Given the description of an element on the screen output the (x, y) to click on. 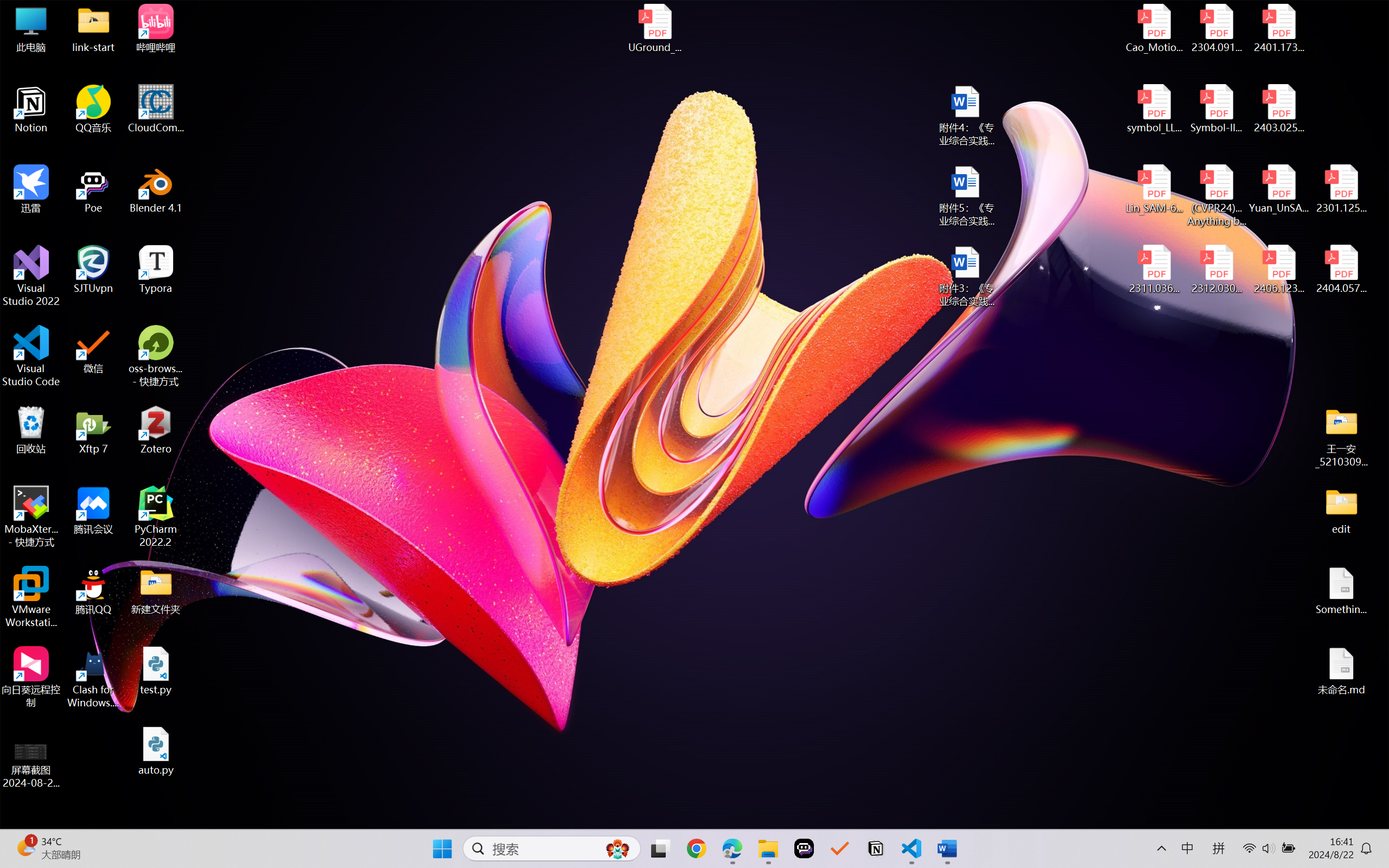
CloudCompare (156, 109)
2301.12597v3.pdf (1340, 189)
Typora (156, 269)
Xftp 7 (93, 430)
Something.md (1340, 591)
